Given the description of an element on the screen output the (x, y) to click on. 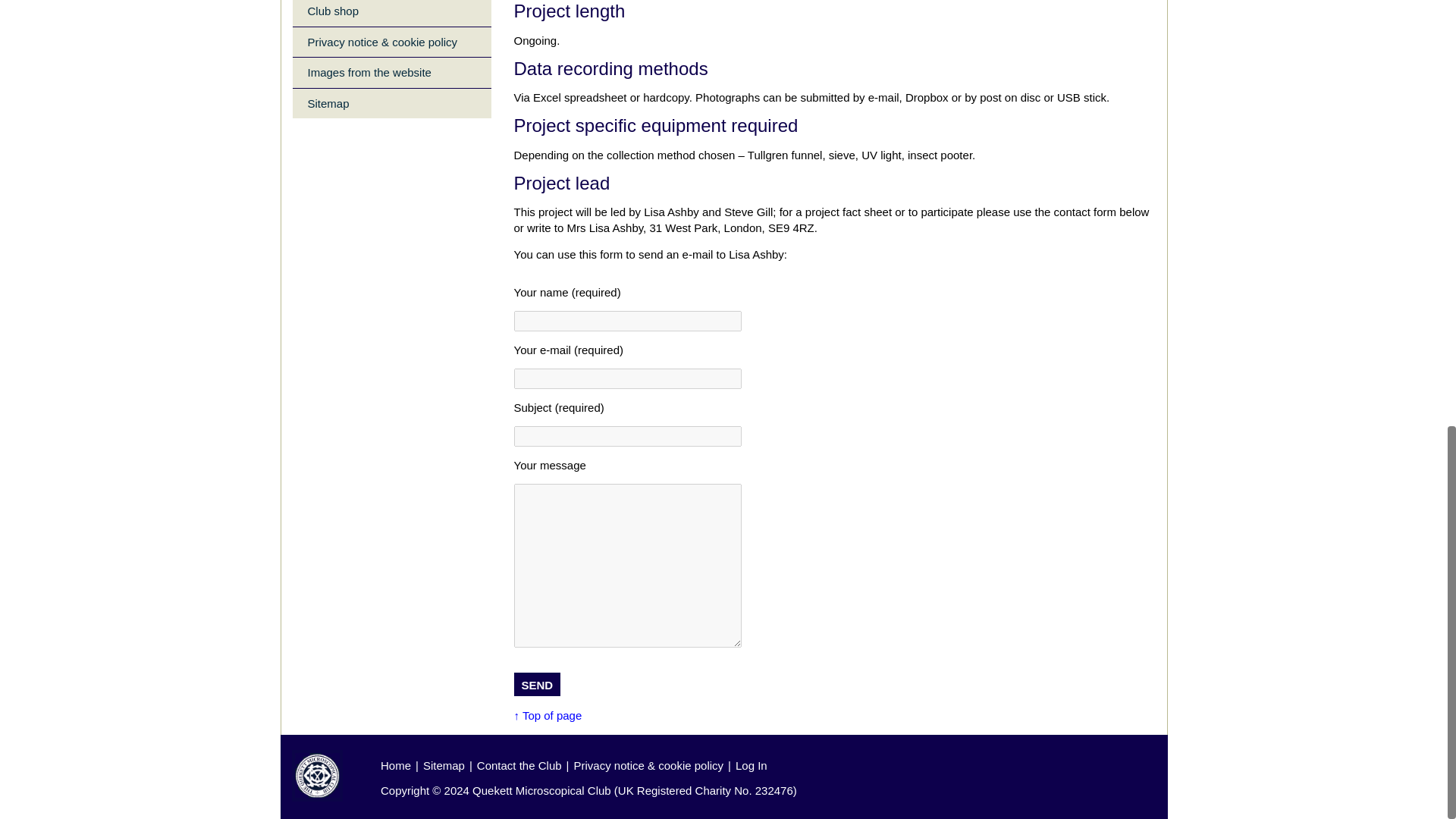
Send (536, 684)
